Given the description of an element on the screen output the (x, y) to click on. 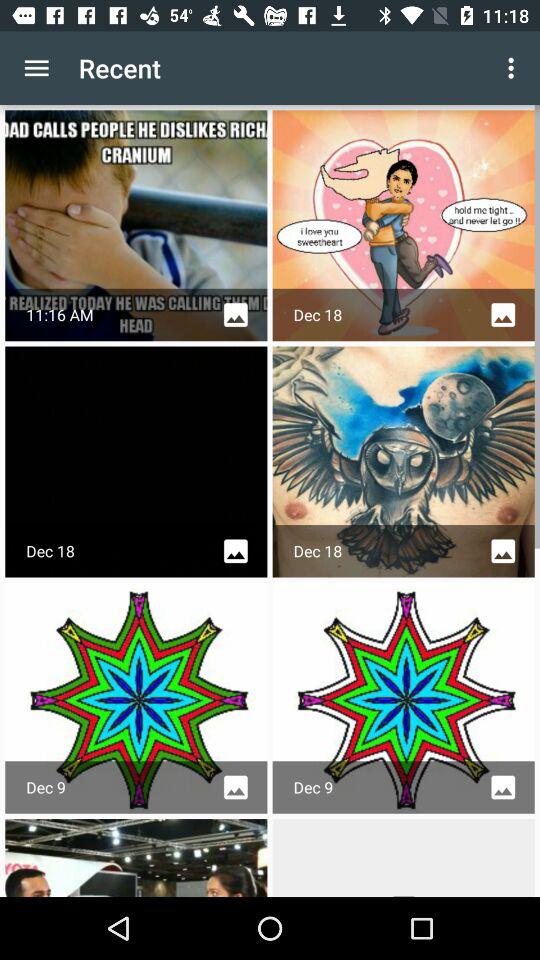
select item to the left of the recent icon (36, 68)
